Given the description of an element on the screen output the (x, y) to click on. 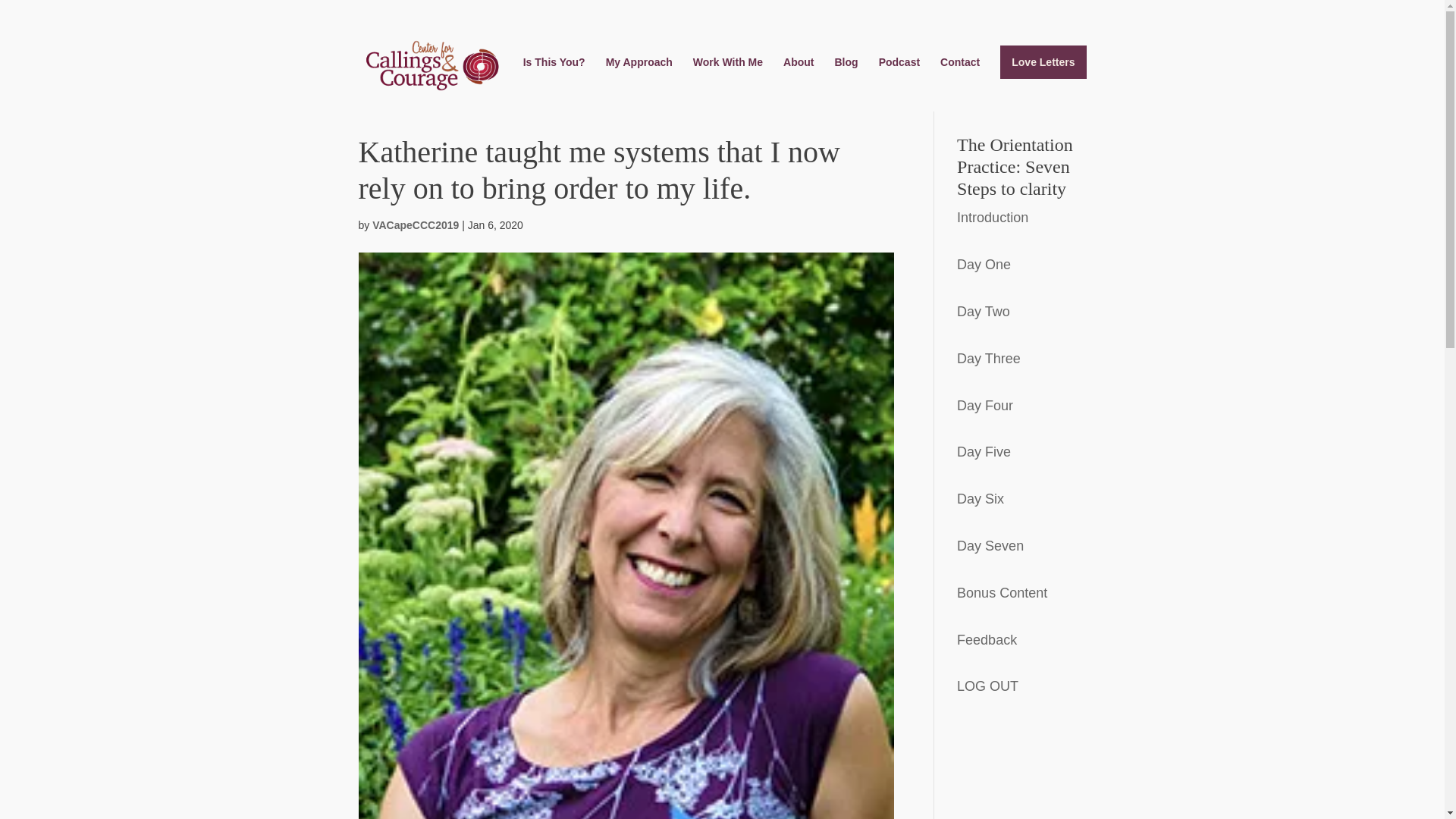
Work With Me (727, 74)
Day Four (984, 405)
Day Six (980, 498)
Podcast (899, 74)
Day Seven (989, 545)
Day Three (988, 358)
Love Letters (1043, 61)
Contact (959, 74)
Is This You? (553, 74)
Day Two (983, 311)
